Given the description of an element on the screen output the (x, y) to click on. 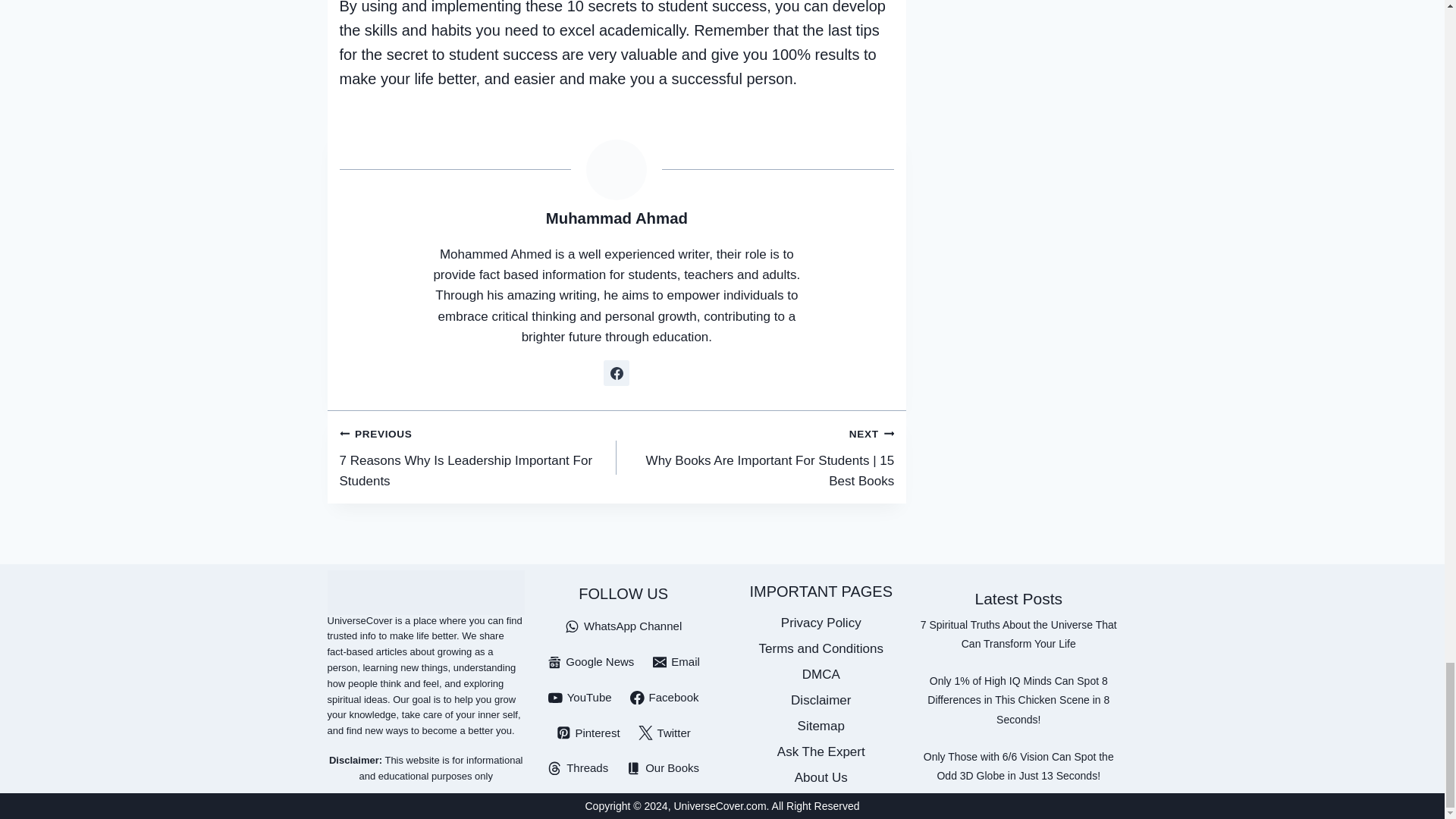
Follow Muhammad Ahmad on Facebook (616, 372)
Posts by Muhammad Ahmad (616, 217)
Muhammad Ahmad (478, 457)
